Given the description of an element on the screen output the (x, y) to click on. 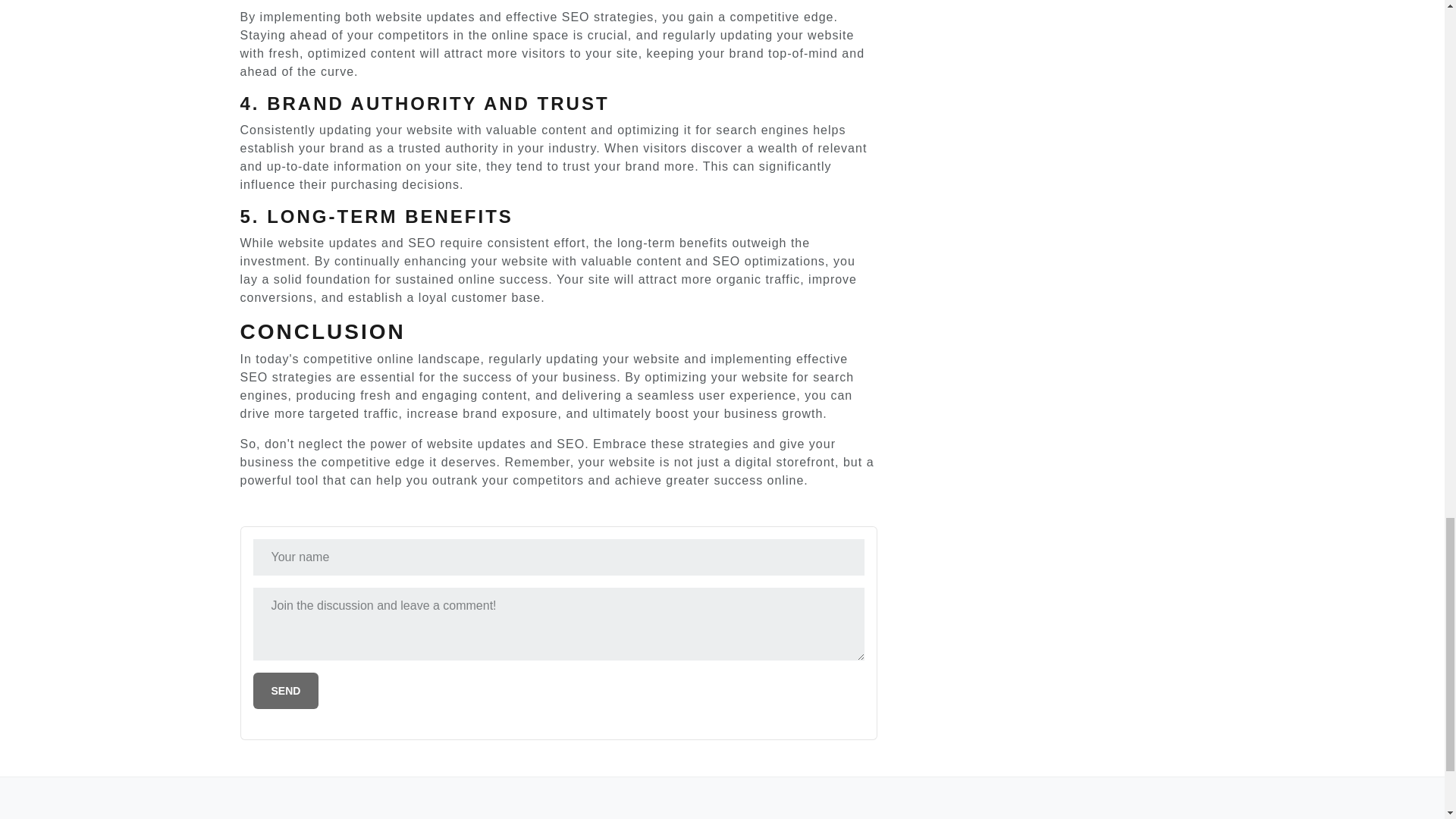
Send (285, 690)
Send (285, 690)
Terms of service (770, 816)
Privacy policy (665, 816)
